Given the description of an element on the screen output the (x, y) to click on. 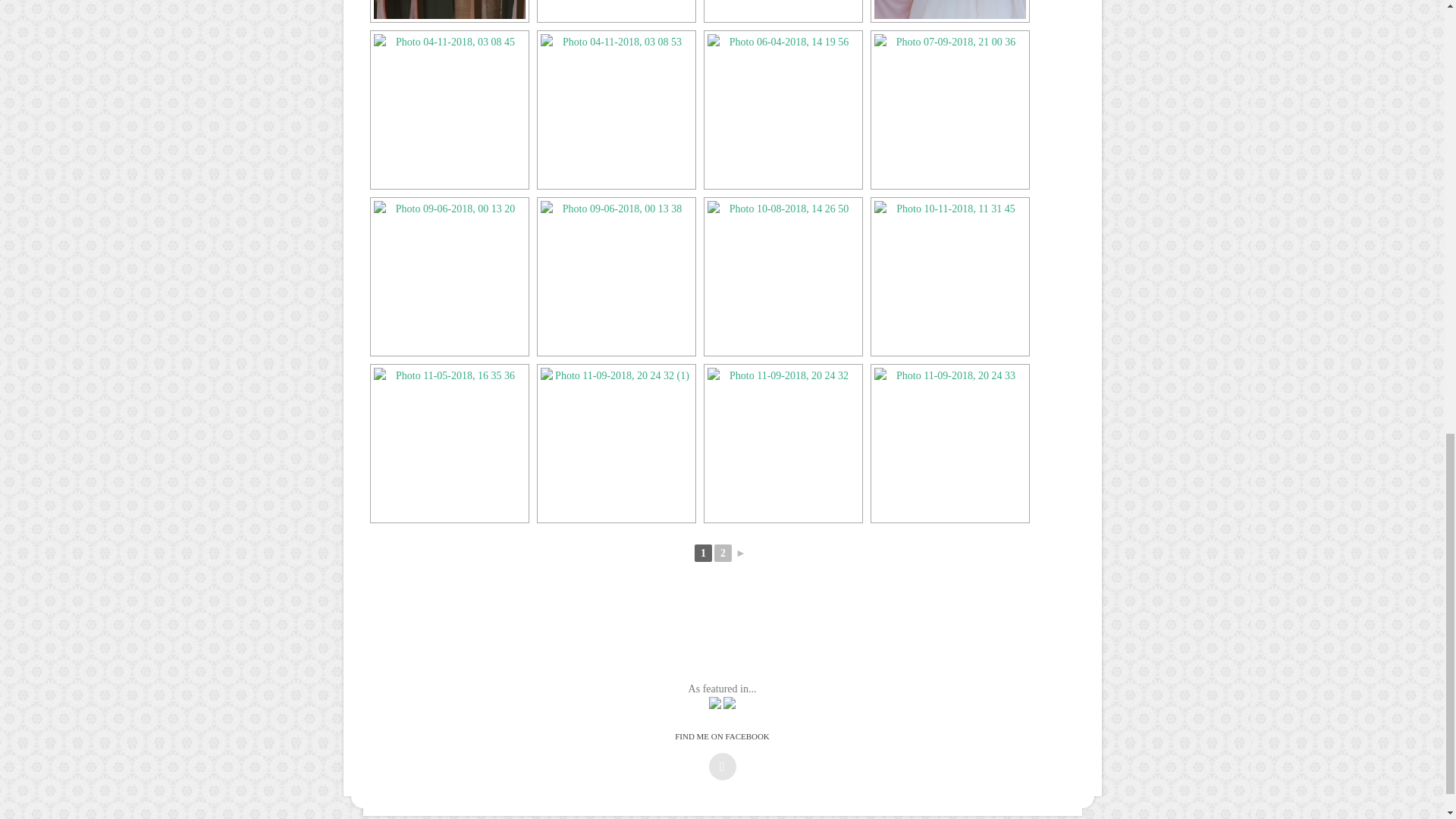
Photo 01-09-2018, 20 15 48 (448, 9)
Photo 01-10-2018, 18 40 33 (615, 9)
Photo 02-11-2018, 11 26 03 (782, 9)
Photo 04-10-2018, 21 54 20 (949, 9)
2 (723, 552)
